Given the description of an element on the screen output the (x, y) to click on. 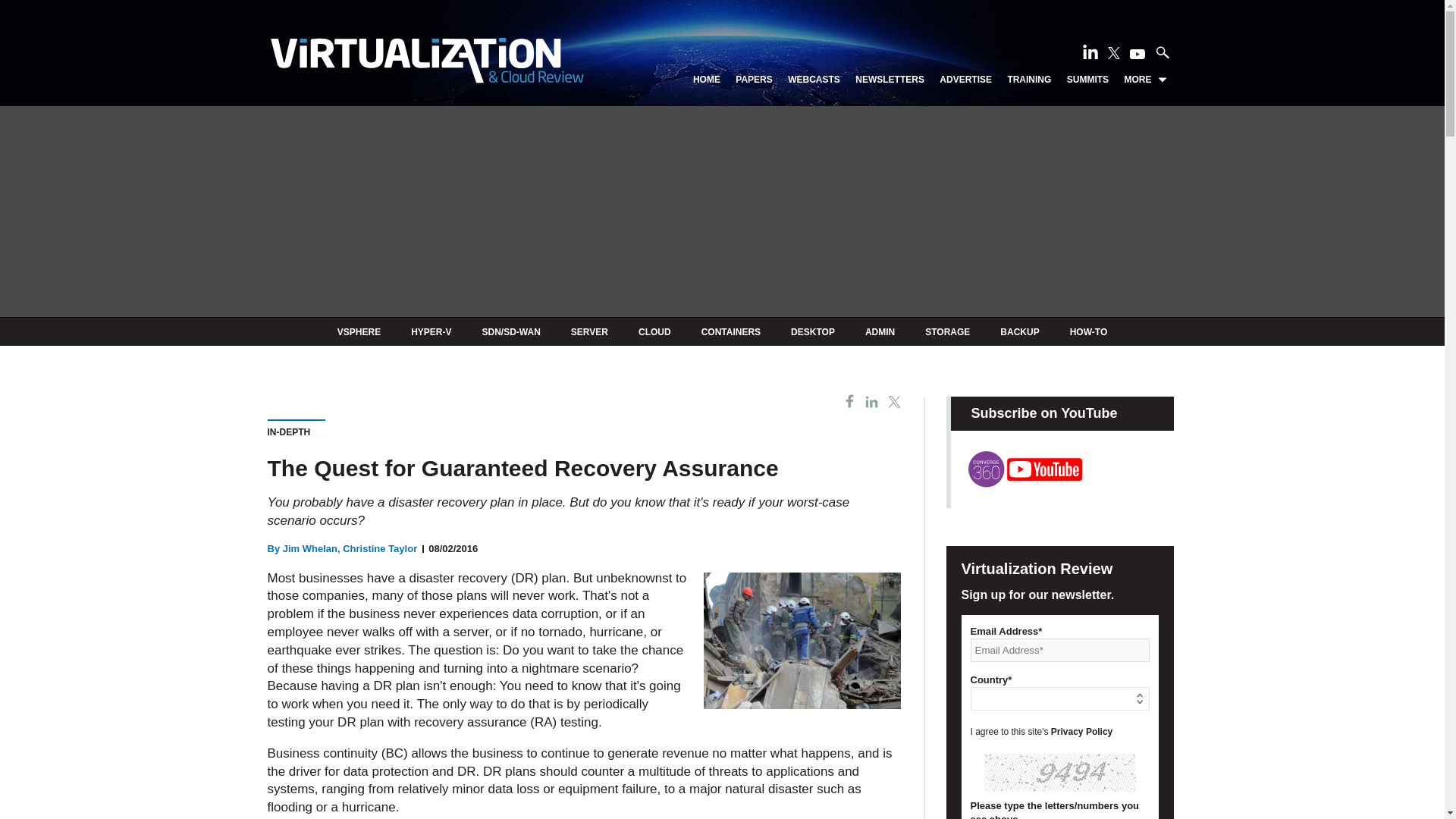
TRAINING (1029, 79)
SUMMITS (1087, 79)
WEBCASTS (813, 79)
SERVER (589, 331)
HOME (706, 79)
PAPERS (753, 79)
MORE (1145, 79)
HYPER-V (430, 331)
VSPHERE (358, 331)
